Given the description of an element on the screen output the (x, y) to click on. 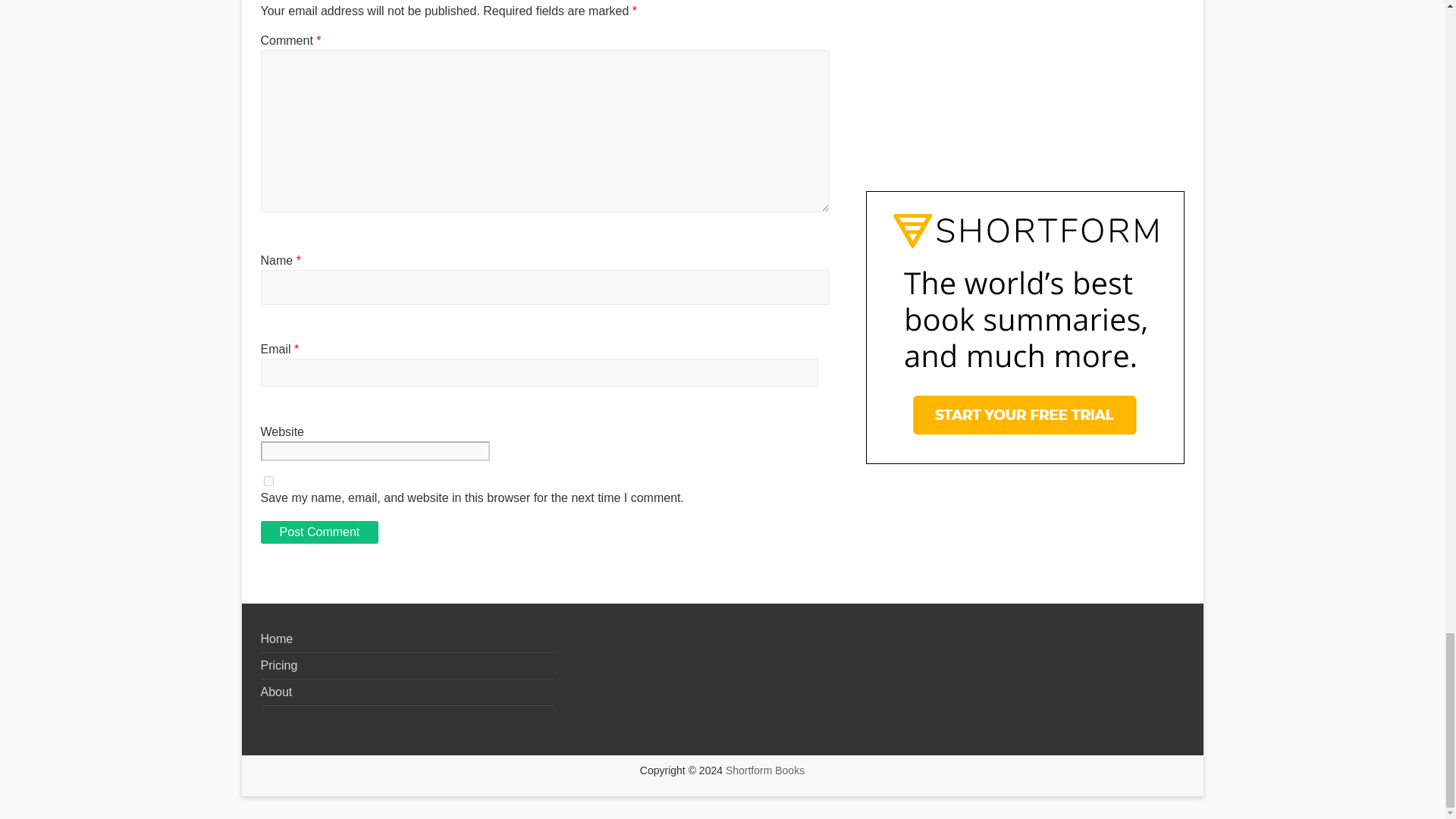
Post Comment (319, 531)
yes (268, 480)
